Given the description of an element on the screen output the (x, y) to click on. 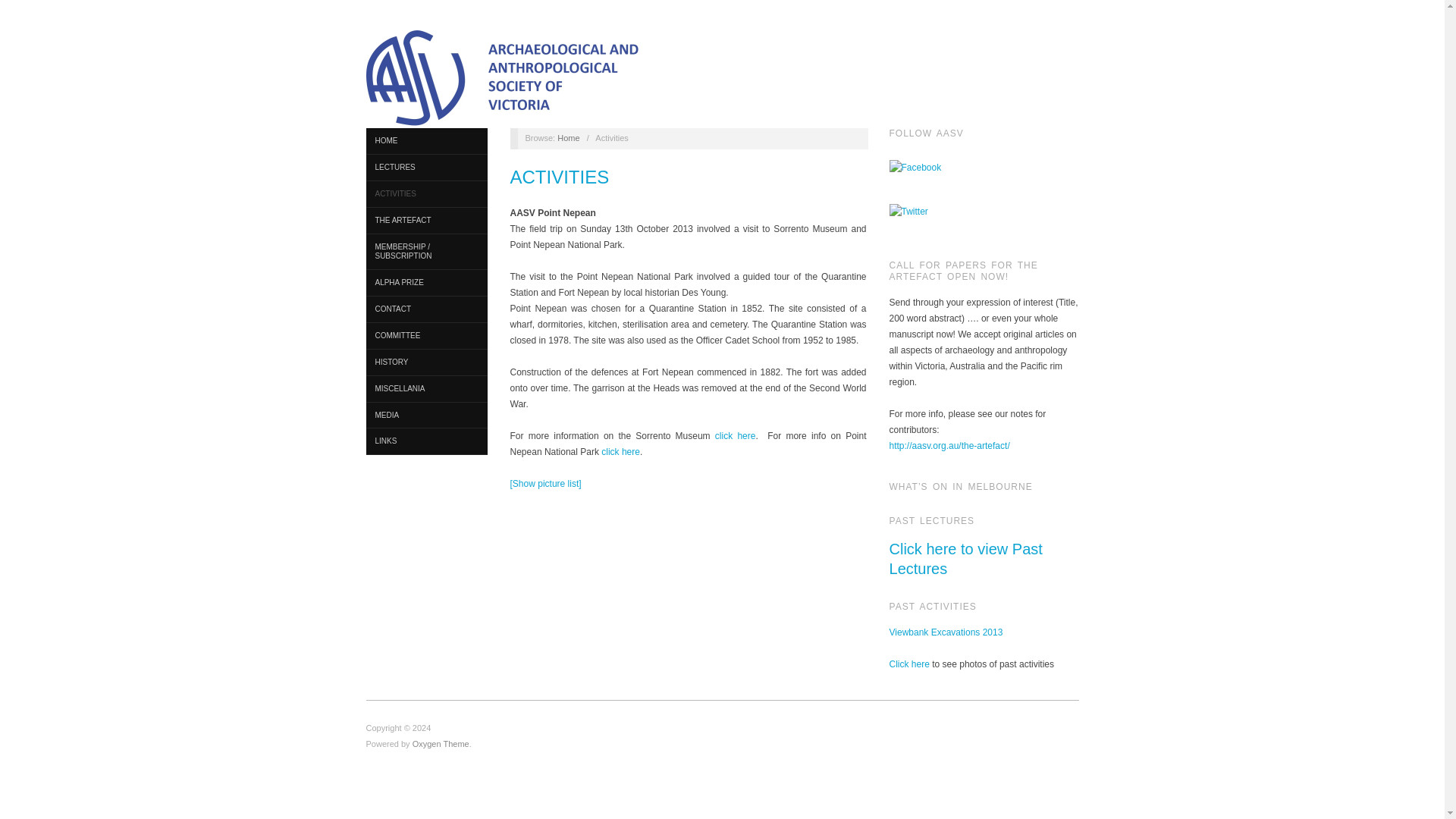
HISTORY (425, 362)
Home (568, 137)
click here (620, 451)
MISCELLANIA (425, 388)
AASV (568, 137)
ACTIVITIES (560, 177)
click here (732, 435)
LINKS (425, 441)
Activities (560, 177)
ACTIVITIES (425, 194)
